Given the description of an element on the screen output the (x, y) to click on. 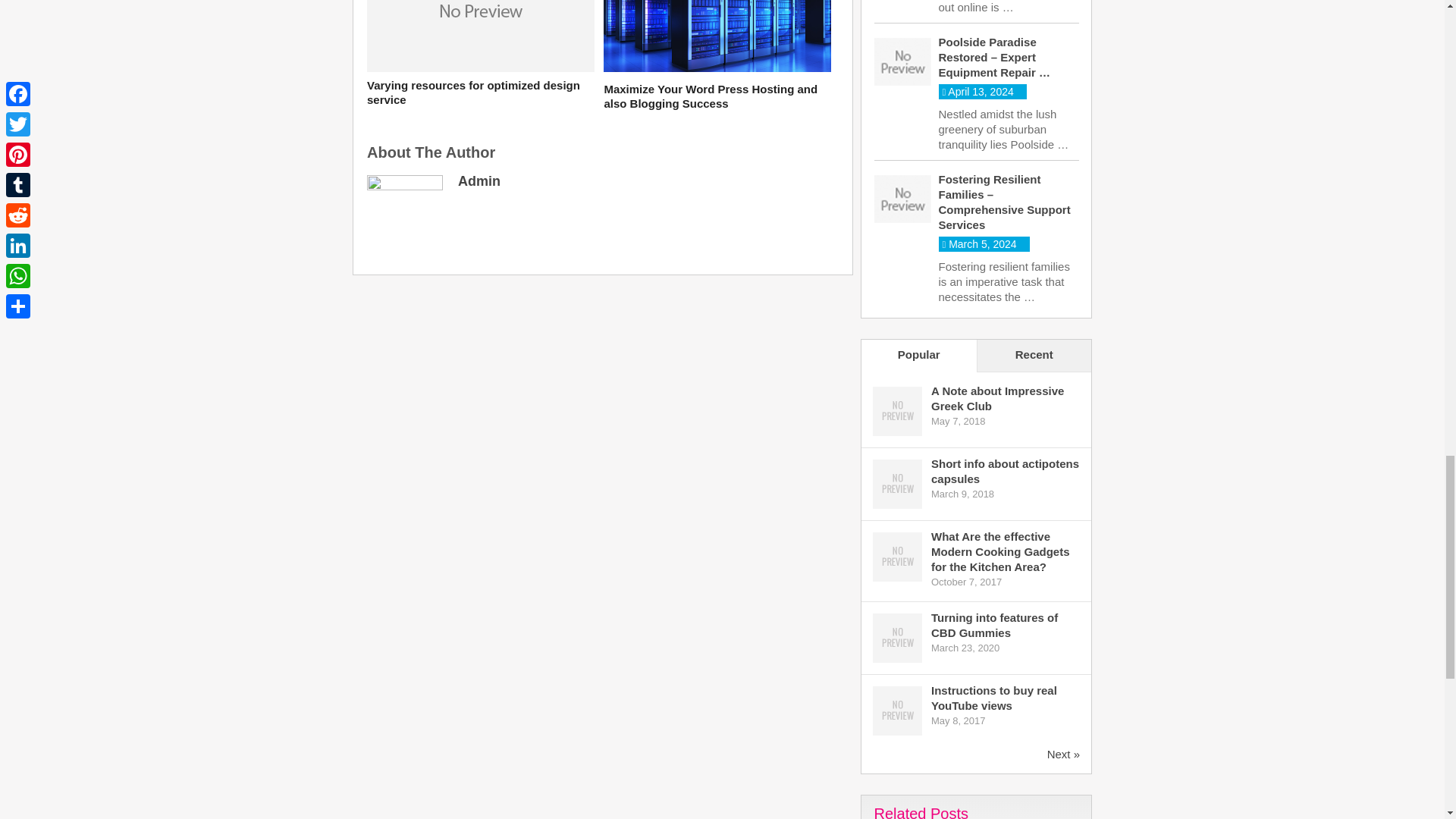
Varying resources for optimized design service (480, 92)
Admin (479, 181)
Maximize Your Word Press Hosting and also Blogging Success (717, 96)
